Given the description of an element on the screen output the (x, y) to click on. 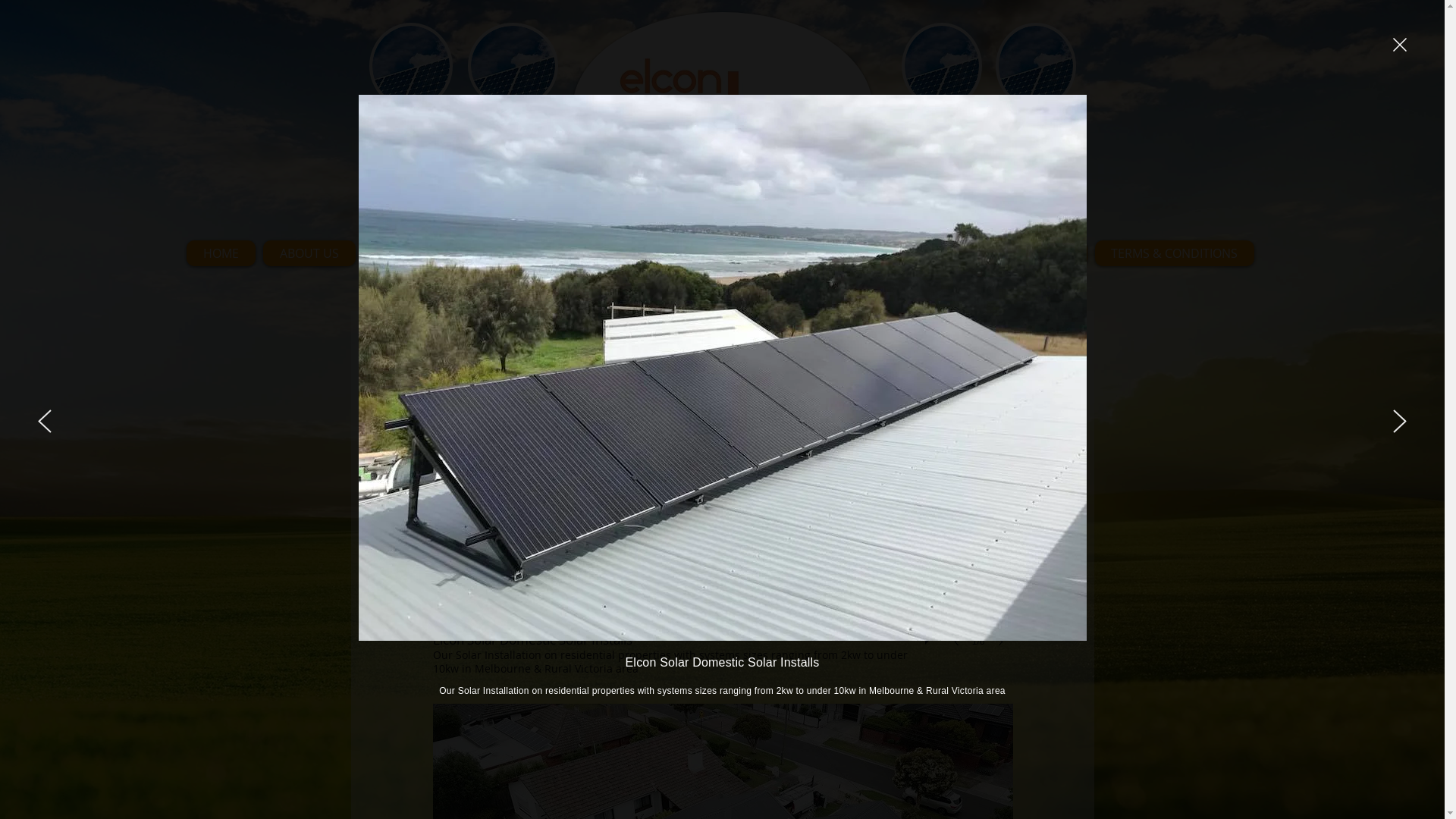
solar panel.JPG Element type: hover (409, 65)
solar panel.JPG Element type: hover (940, 65)
solar panel.JPG Element type: hover (1034, 65)
HOME Element type: text (220, 252)
solar panel.JPG Element type: hover (512, 65)
